Given the description of an element on the screen output the (x, y) to click on. 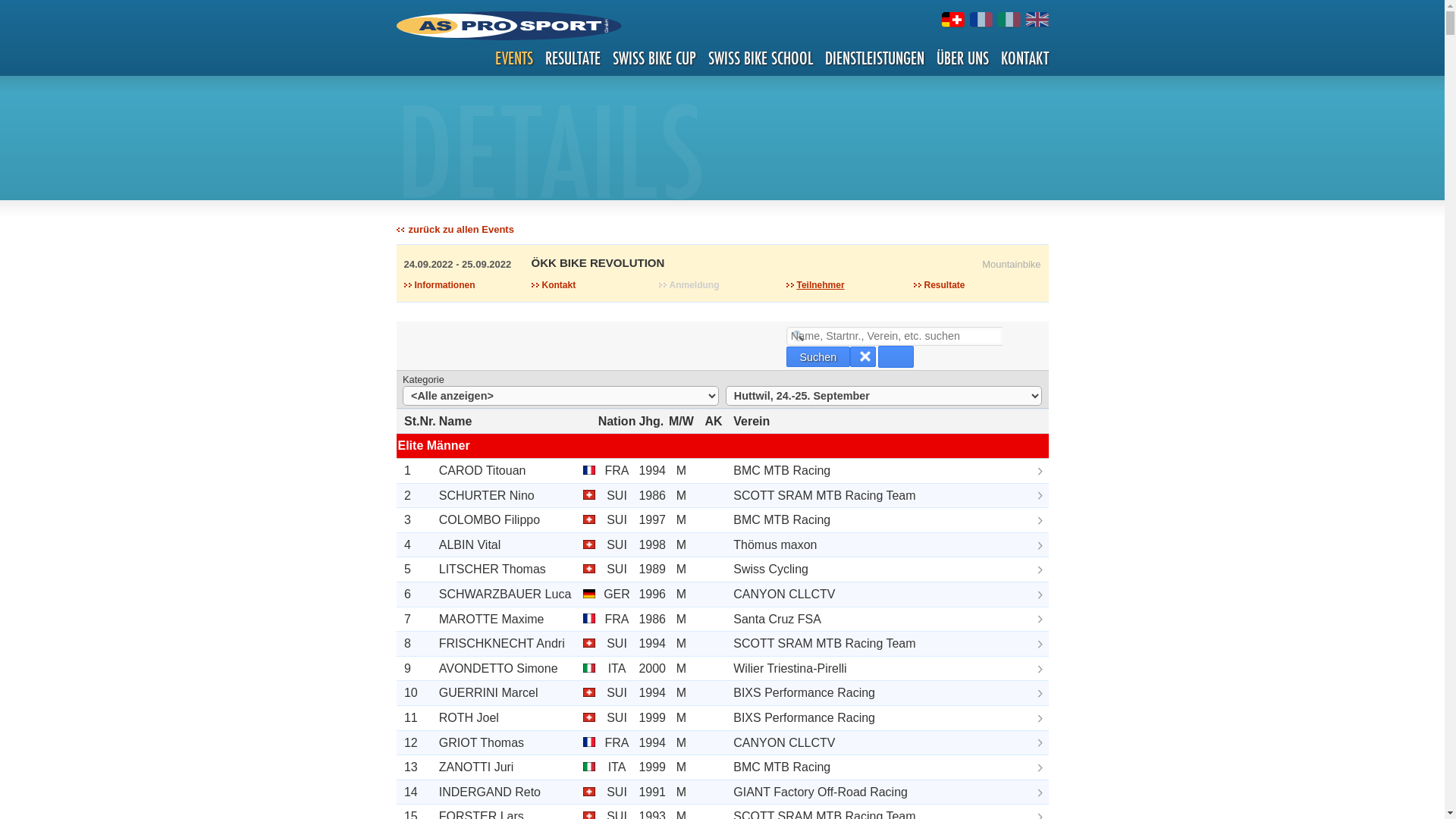
RESULTATE Element type: text (571, 57)
Teilnehmer Element type: text (814, 284)
Kontakt Element type: text (552, 284)
KONTAKT Element type: text (1024, 57)
SWISS BIKE SCHOOL Element type: text (760, 57)
DIENSTLEISTUNGEN Element type: text (874, 57)
  Element type: text (895, 356)
Informationen Element type: text (438, 284)
Nur Favoriten anzeigen Element type: hover (895, 356)
SWISS BIKE CUP Element type: text (654, 57)
Suchen Element type: text (818, 356)
Resultate Element type: text (938, 284)
EVENTS Element type: text (513, 57)
